Given the description of an element on the screen output the (x, y) to click on. 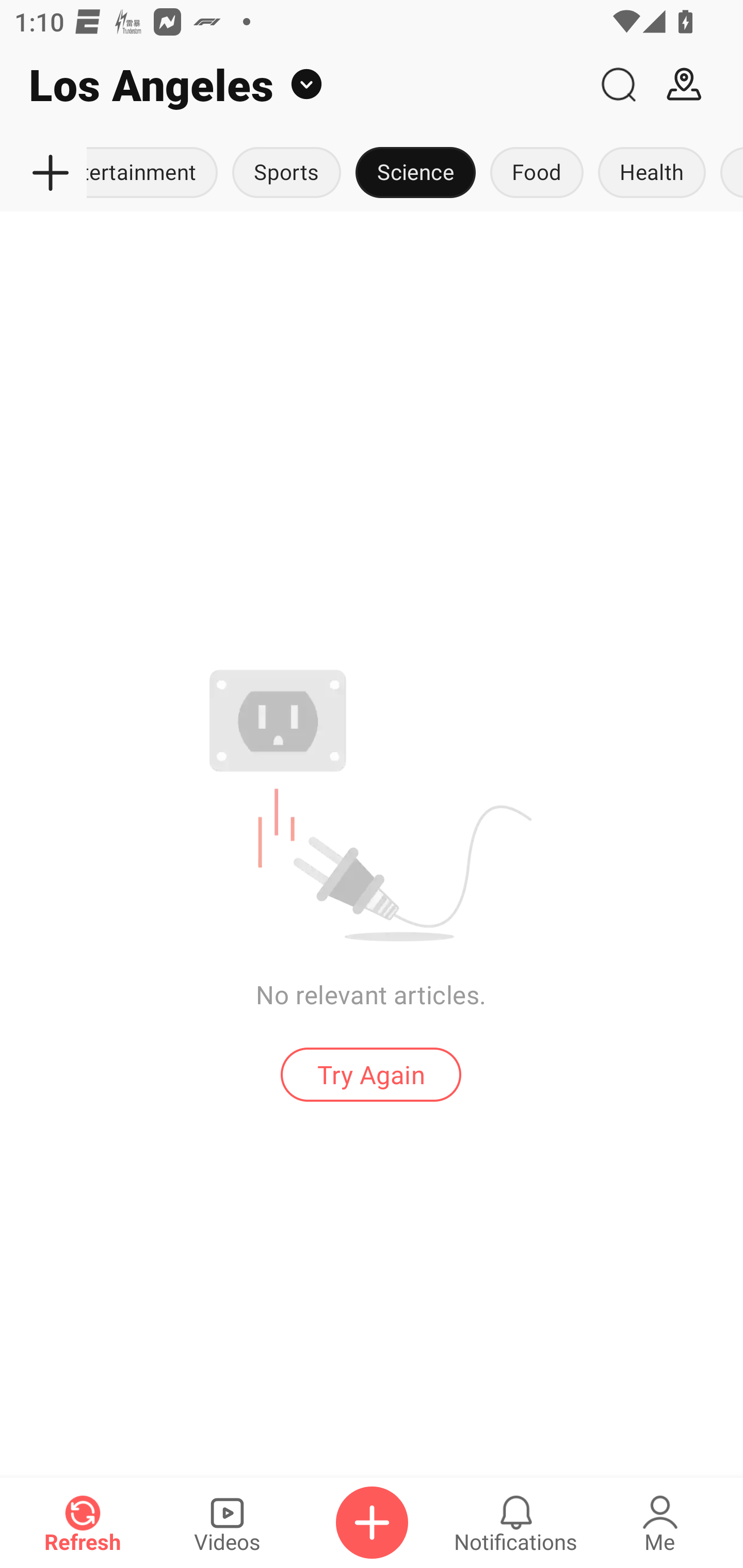
Los Angeles (292, 84)
Entertainment (155, 172)
Sports (286, 172)
Science (415, 172)
Food (536, 172)
Health (651, 172)
No relevant articles. Try Again (370, 884)
Videos (227, 1522)
Notifications (516, 1522)
Me (659, 1522)
